Given the description of an element on the screen output the (x, y) to click on. 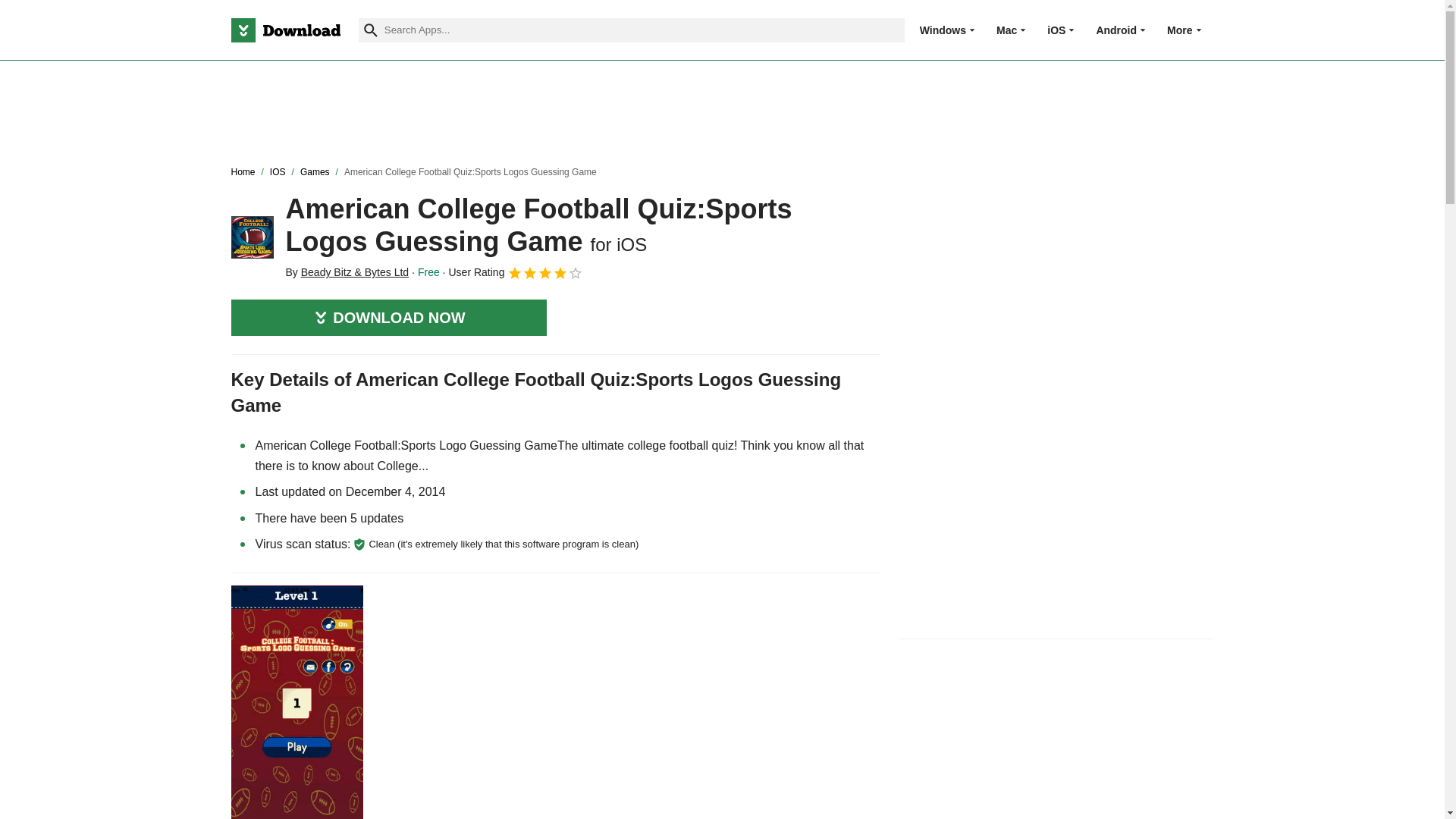
Mac (1005, 29)
Windows (943, 29)
